Given the description of an element on the screen output the (x, y) to click on. 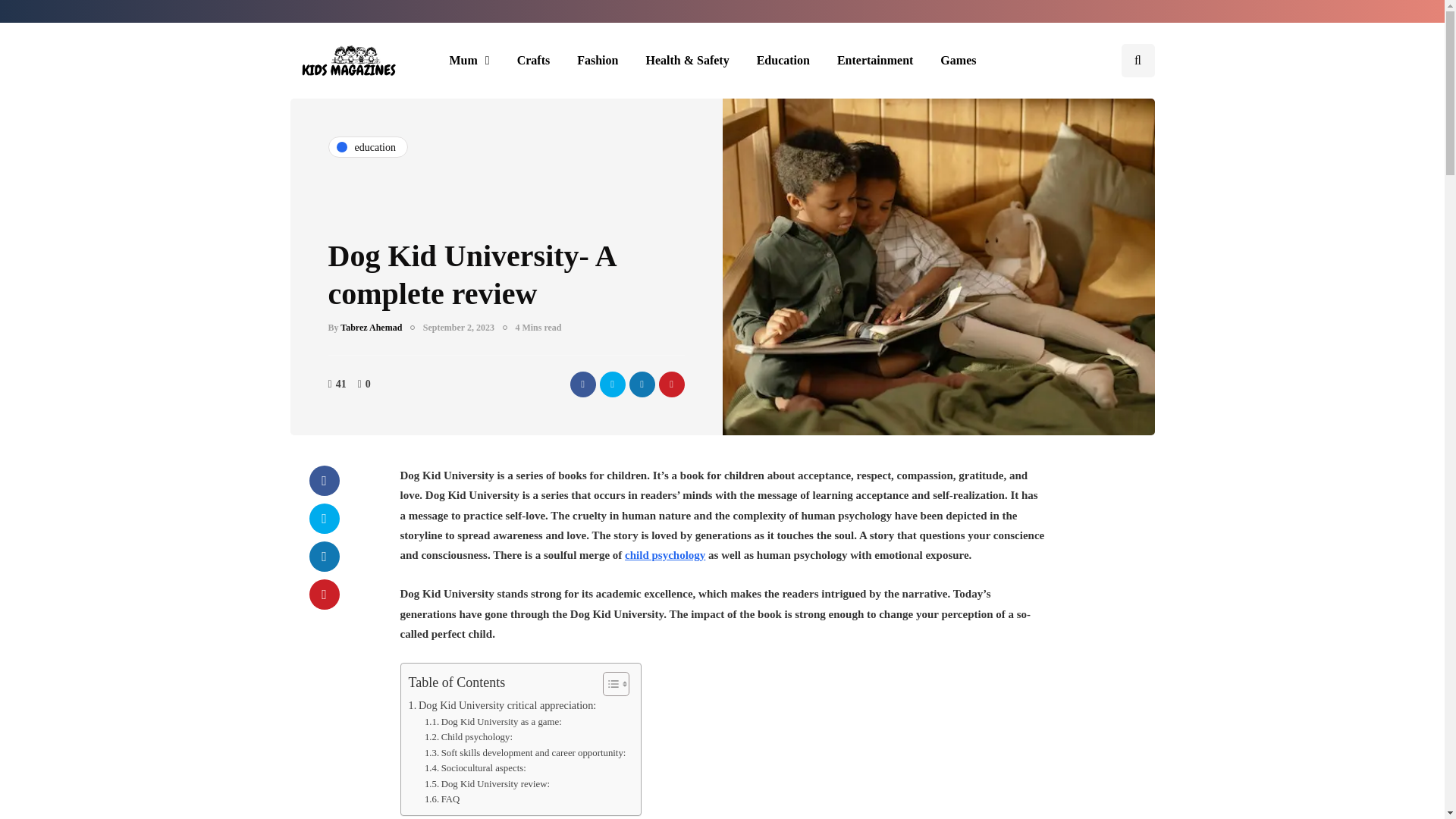
Mum (468, 60)
Crafts (533, 60)
Sociocultural aspects: (475, 768)
Share with Facebook (323, 481)
Dog Kid University critical appreciation: (501, 705)
Share with Facebook (582, 384)
child psychology (664, 554)
Dog Kid University critical appreciation: (501, 705)
Entertainment (875, 60)
Posts by Tabrez Ahemad (370, 327)
